Given the description of an element on the screen output the (x, y) to click on. 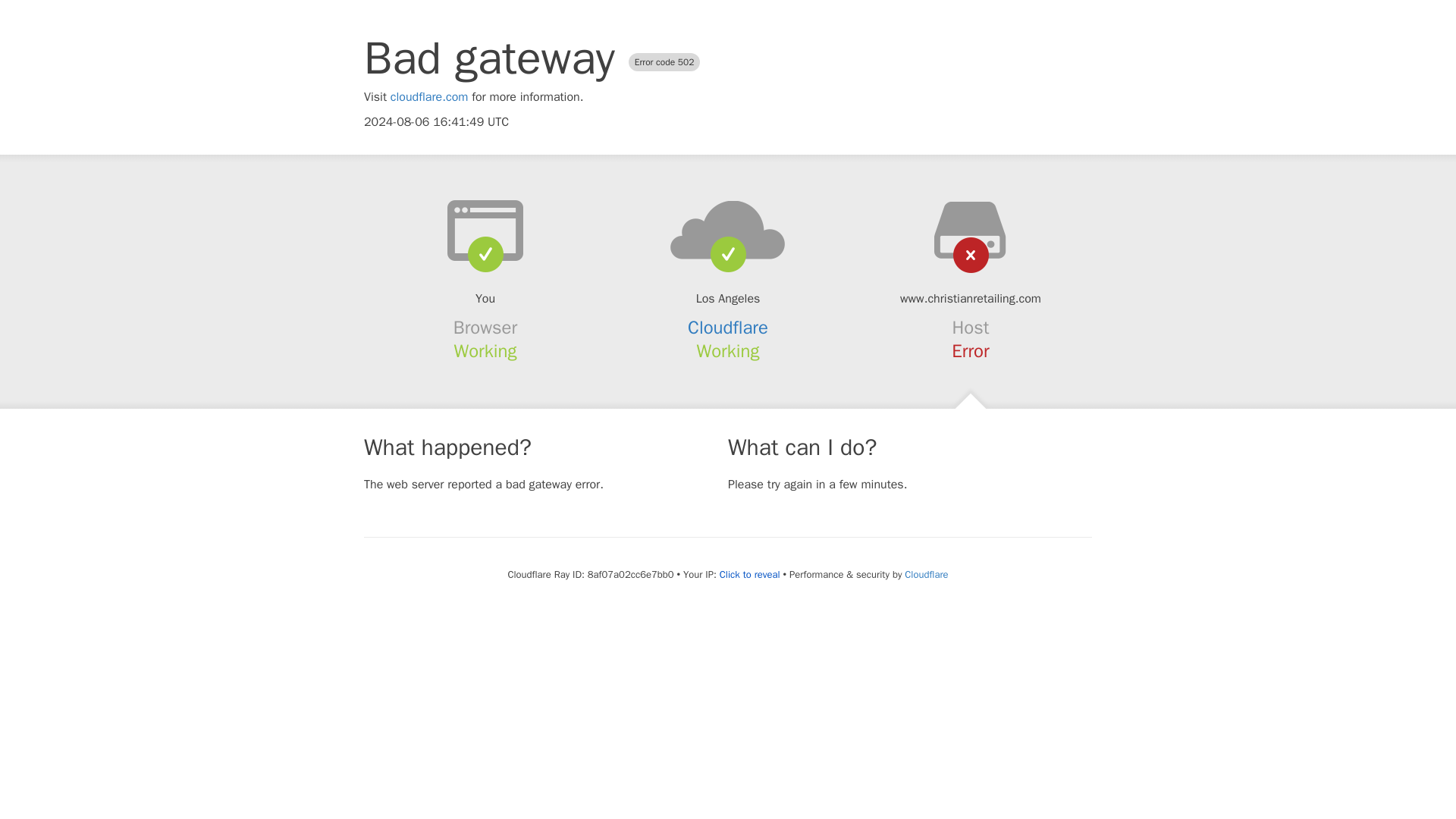
cloudflare.com (429, 96)
Cloudflare (727, 327)
Cloudflare (925, 574)
Click to reveal (749, 574)
